Given the description of an element on the screen output the (x, y) to click on. 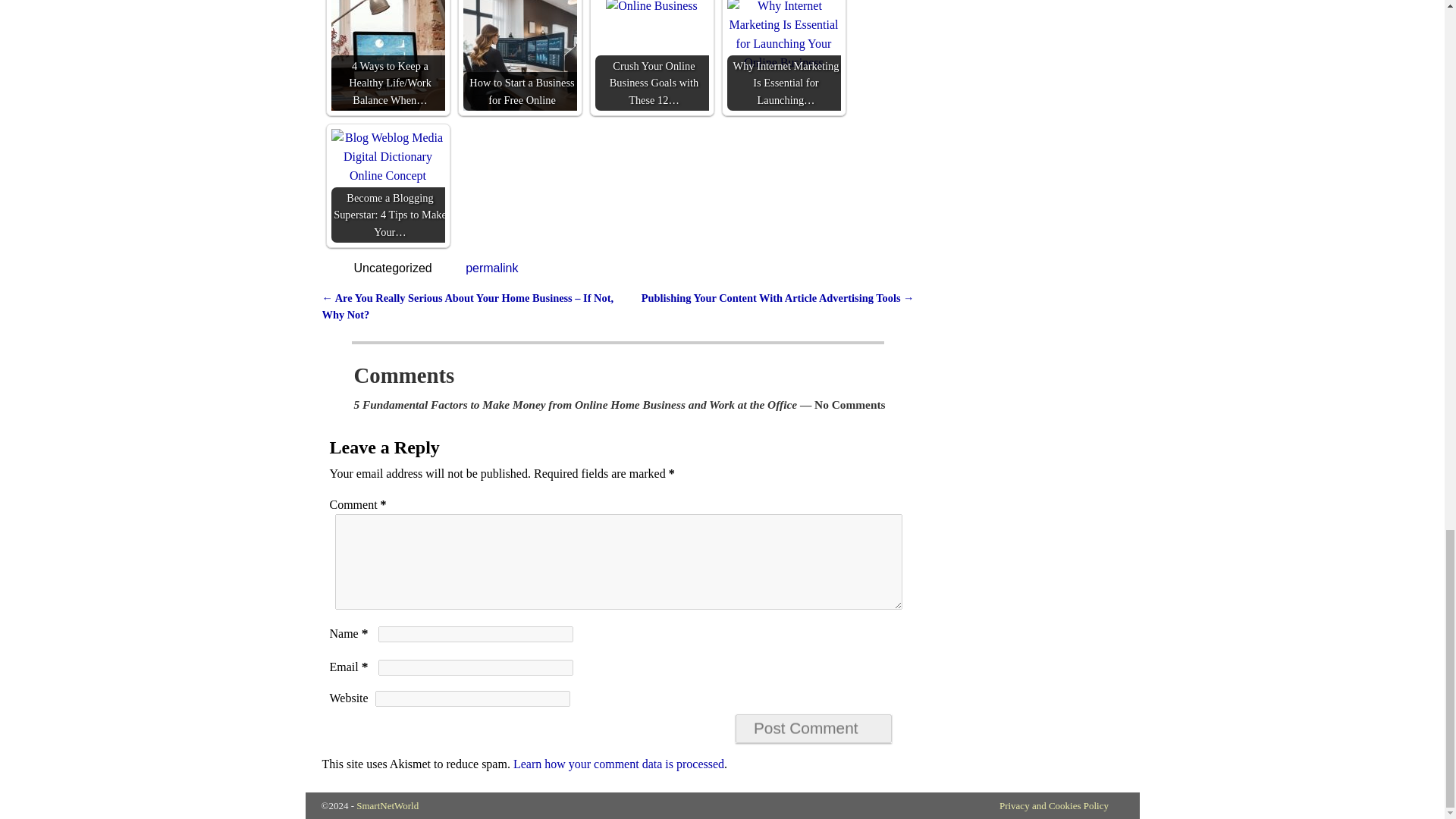
Post Comment (813, 728)
How to Start a Business for Free Online (519, 55)
SmartNetWorld  (387, 805)
Learn how your comment data is processed (618, 763)
permalink (491, 267)
Post Comment (813, 728)
How to Start a Business for Free Online (519, 55)
